Given the description of an element on the screen output the (x, y) to click on. 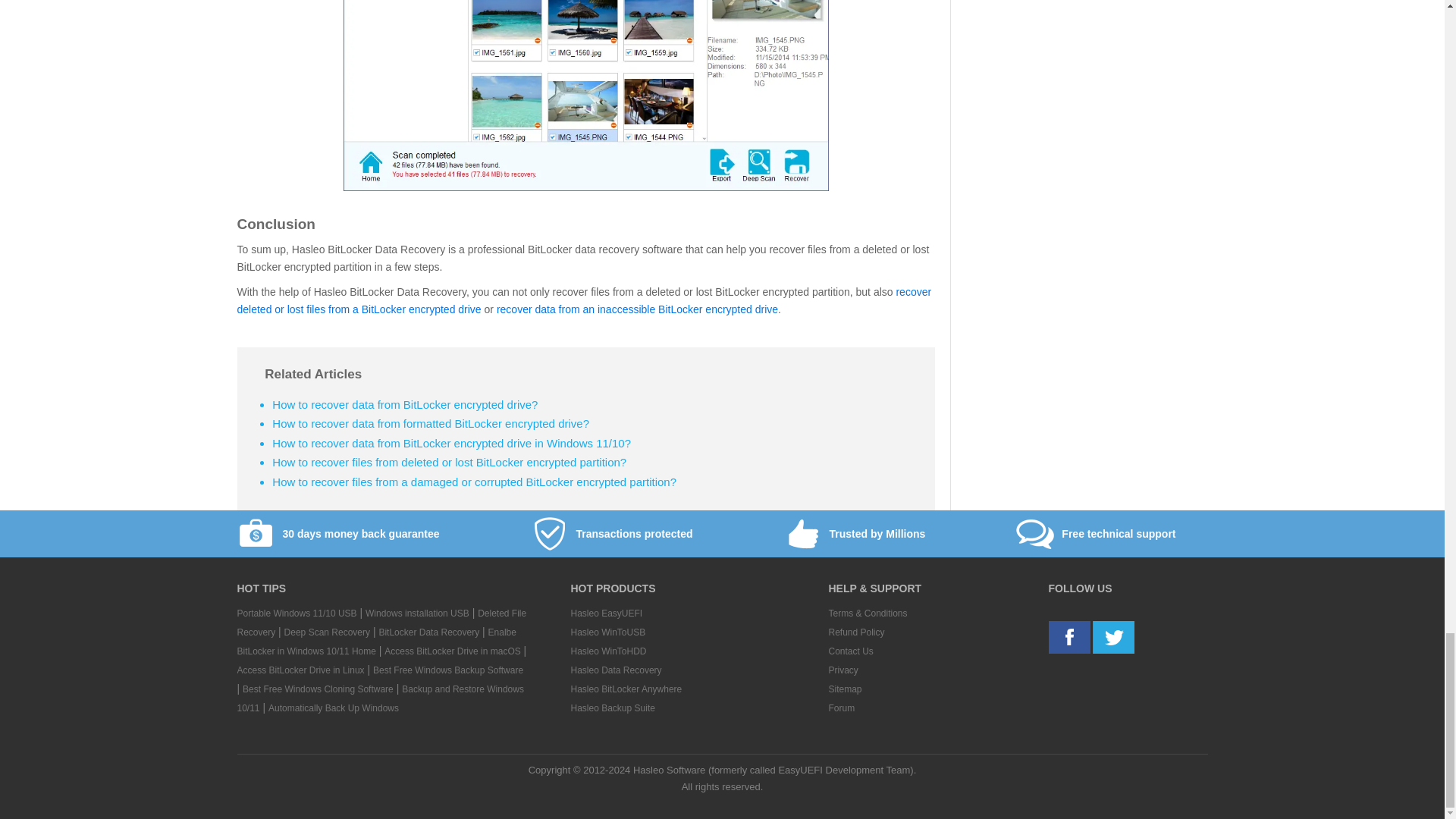
How to recover data from BitLocker encrypted drive? (404, 404)
recover data from an inaccessible BitLocker encrypted drive (636, 309)
